Given the description of an element on the screen output the (x, y) to click on. 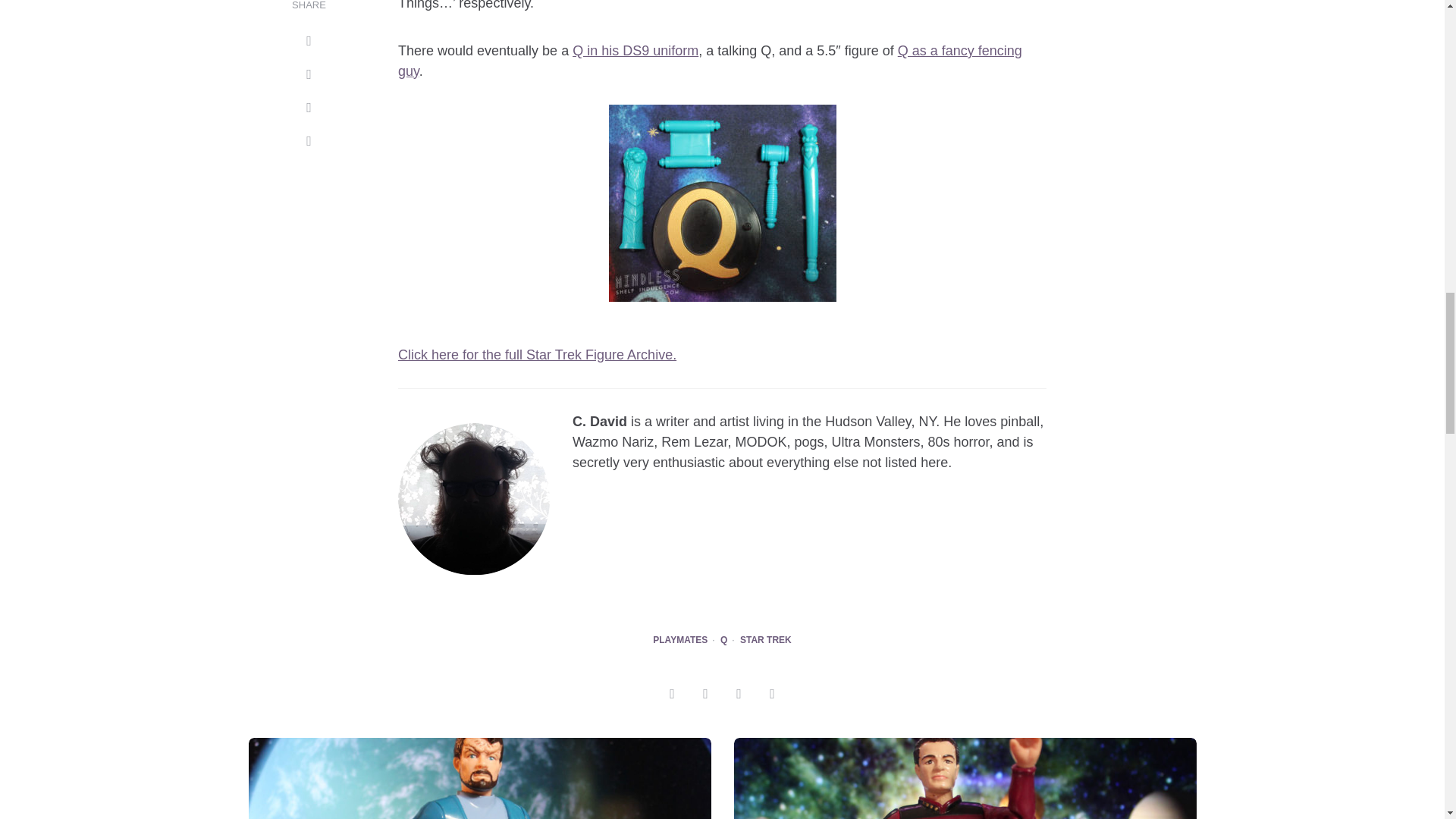
Q as a fancy fencing guy (709, 60)
Q in his DS9 uniform (635, 50)
STAR TREK (765, 640)
Click here for the full Star Trek Figure Archive. (537, 354)
PLAYMATES (679, 640)
